Given the description of an element on the screen output the (x, y) to click on. 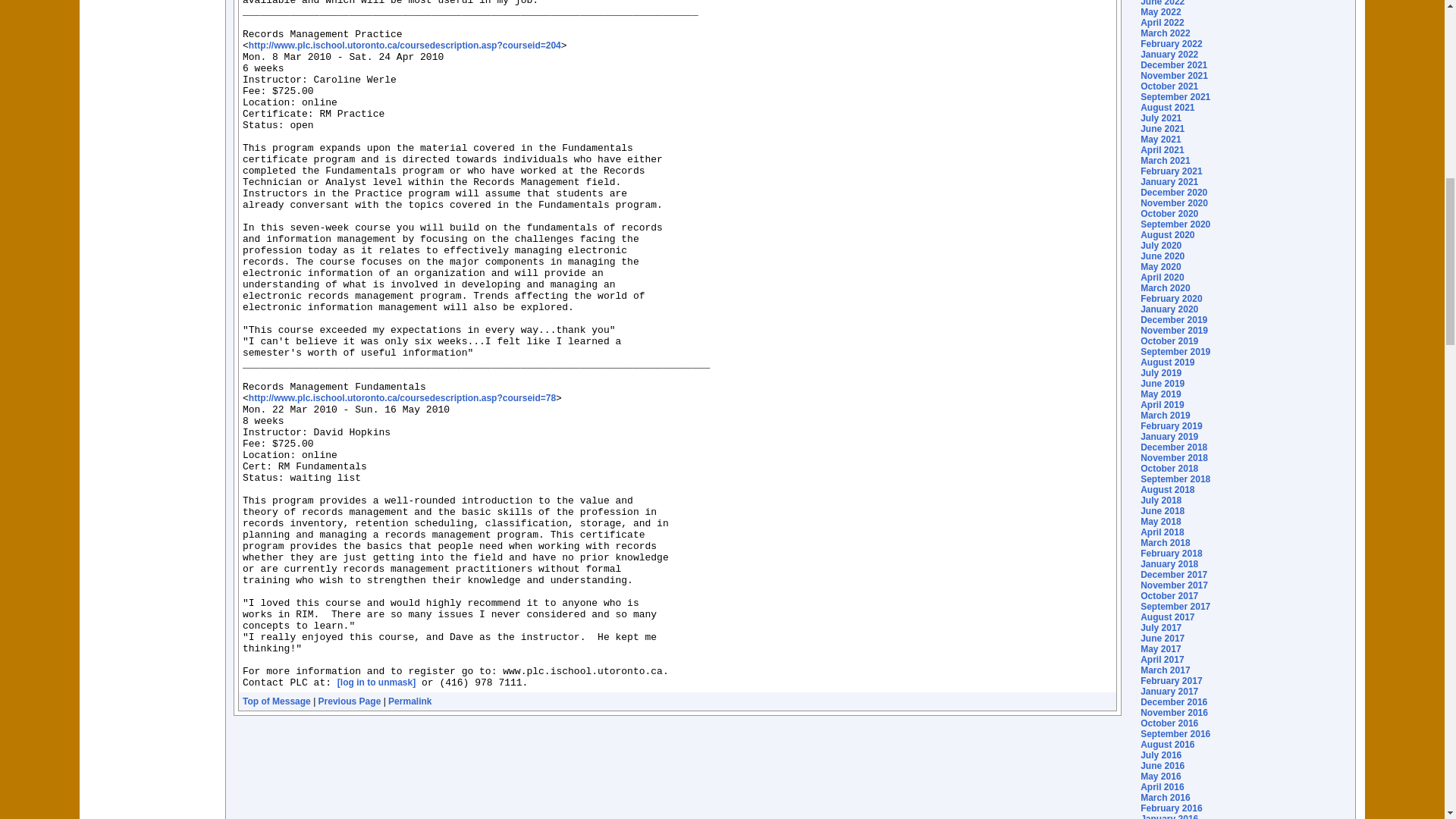
Previous Page (349, 701)
Top of Message (277, 701)
Permalink (409, 701)
